Given the description of an element on the screen output the (x, y) to click on. 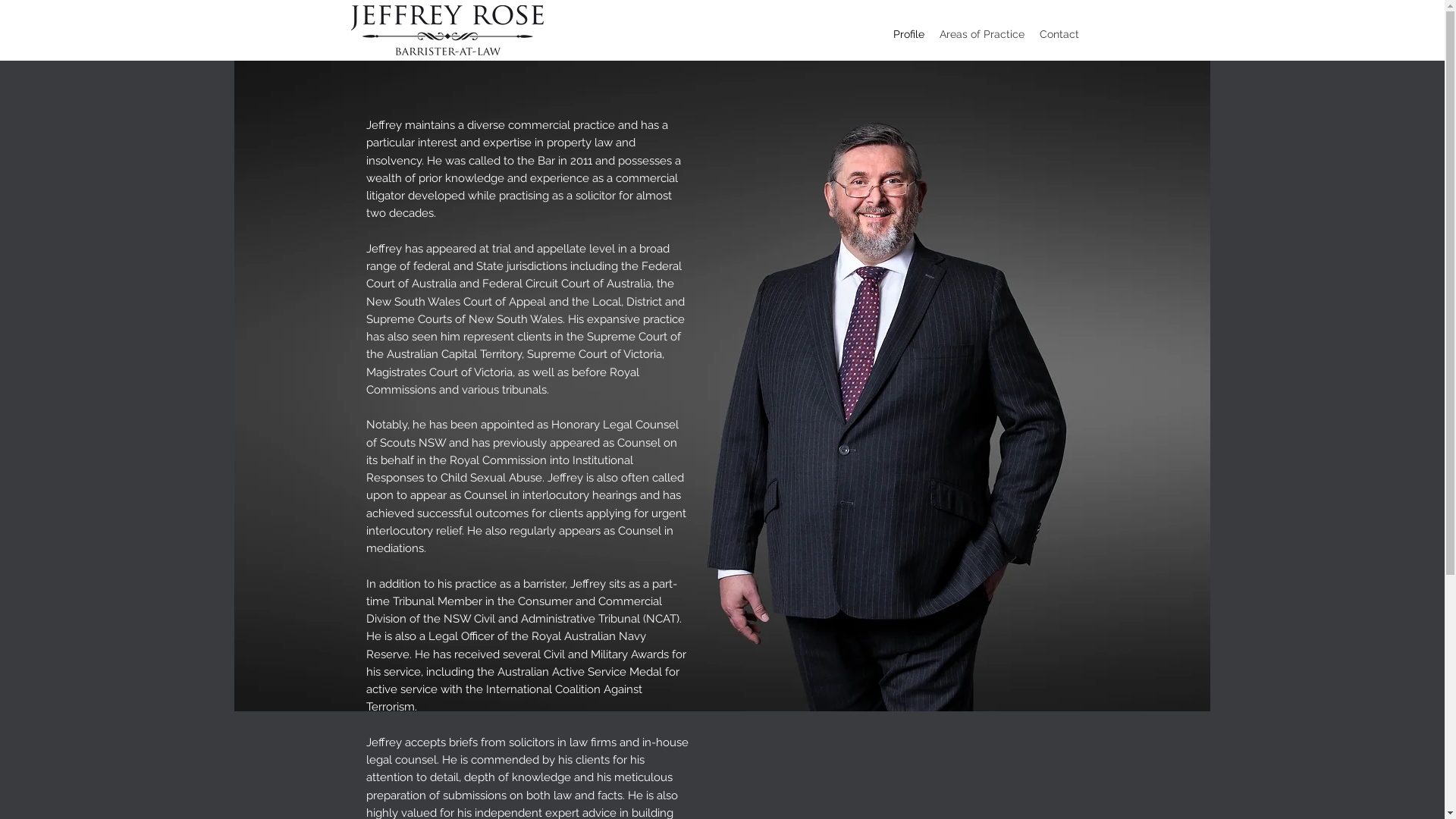
Contact Element type: text (1058, 33)
logo3.png Element type: hover (446, 30)
Areas of Practice Element type: text (981, 33)
Profile Element type: text (908, 33)
